Given the description of an element on the screen output the (x, y) to click on. 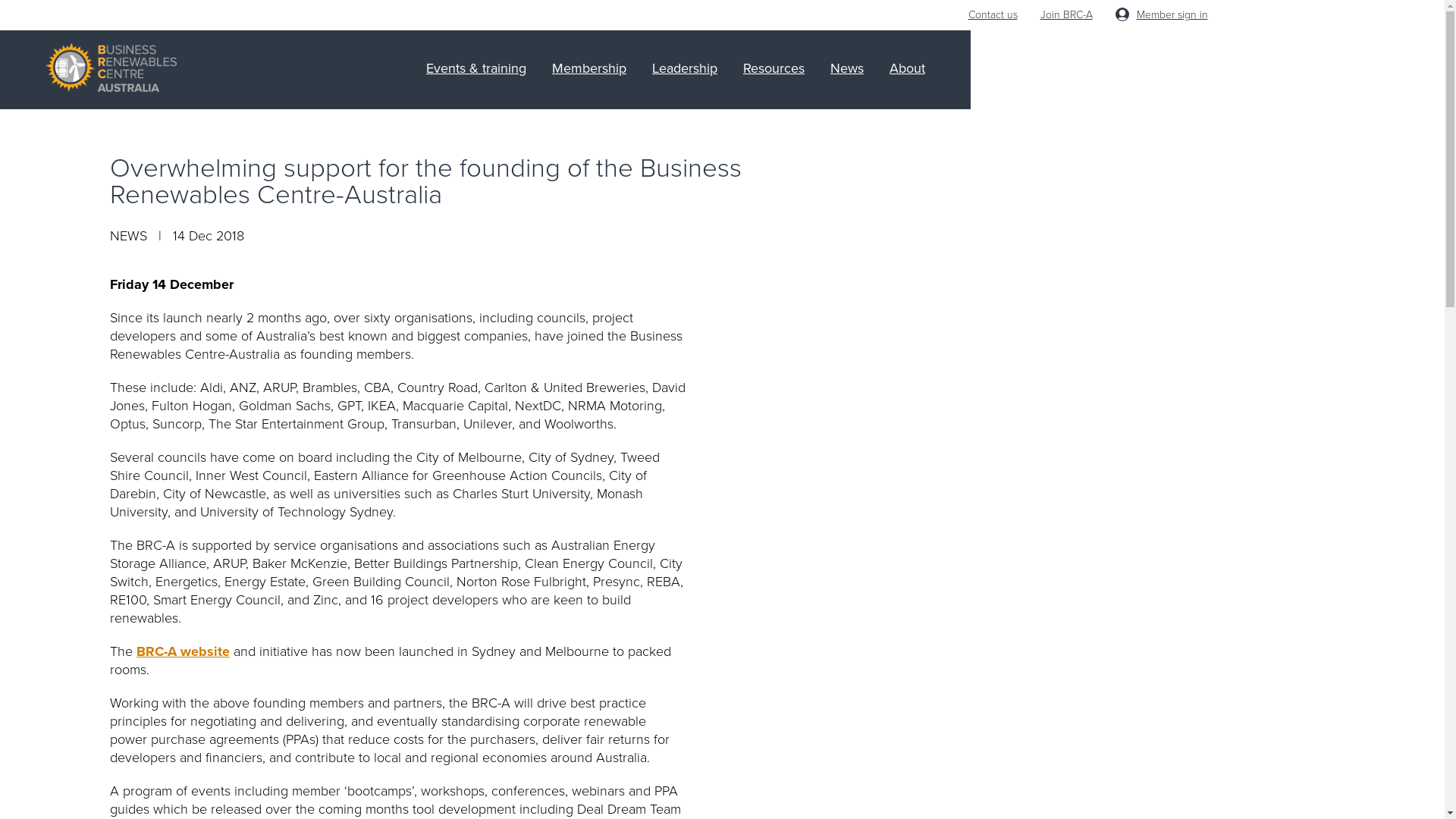
Contact us Element type: text (991, 14)
About Element type: text (907, 68)
Events & training Element type: text (476, 68)
Resources Element type: text (773, 68)
Join BRC-A Element type: text (1066, 14)
Membership Element type: text (589, 68)
News Element type: text (846, 68)
BRC-A website Element type: text (182, 651)
Member sign in Element type: text (1160, 15)
Leadership Element type: text (684, 68)
